Given the description of an element on the screen output the (x, y) to click on. 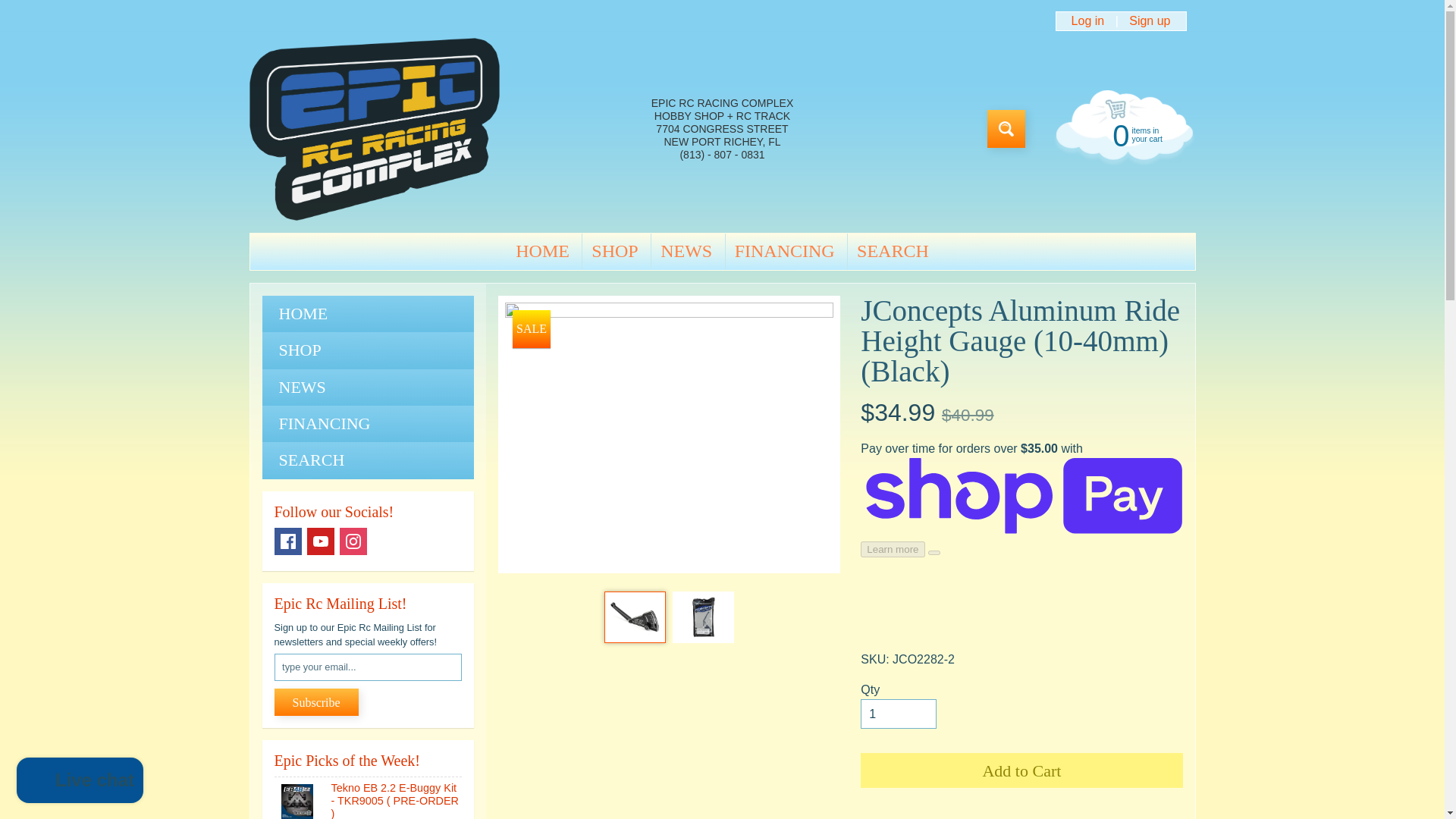
Subscribe (1122, 133)
Search (316, 701)
HOME (1006, 128)
1 (542, 251)
HOME (898, 714)
NEWS (368, 313)
FINANCING (685, 251)
Skip to content (368, 423)
Log in (22, 8)
